Given the description of an element on the screen output the (x, y) to click on. 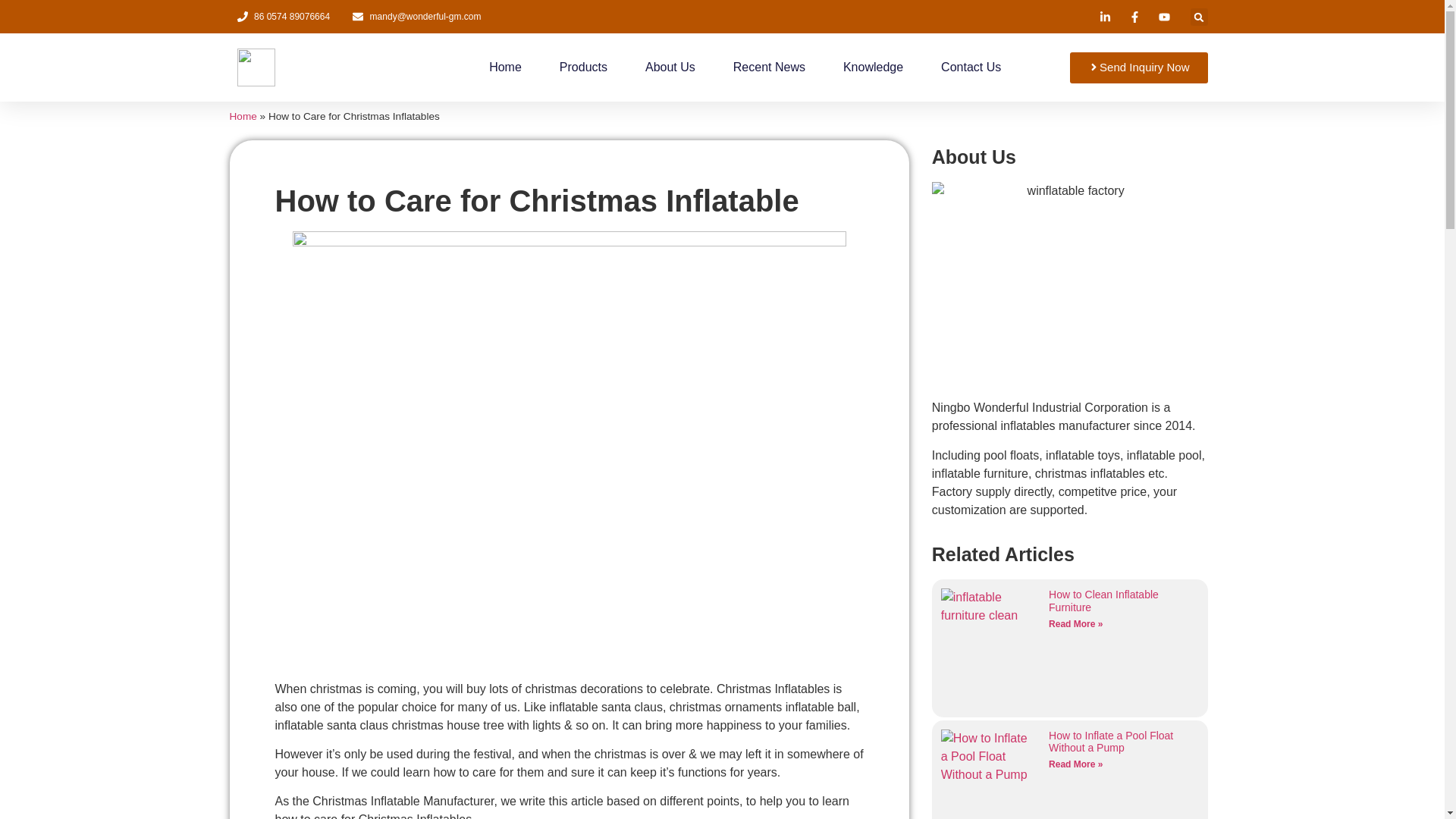
Contact Us (970, 67)
About Us (670, 67)
Knowledge (872, 67)
Home (505, 67)
Send Inquiry Now (1138, 67)
How to Clean Inflatable Furniture (1103, 600)
Recent News (769, 67)
Home (242, 116)
Products (583, 67)
